Given the description of an element on the screen output the (x, y) to click on. 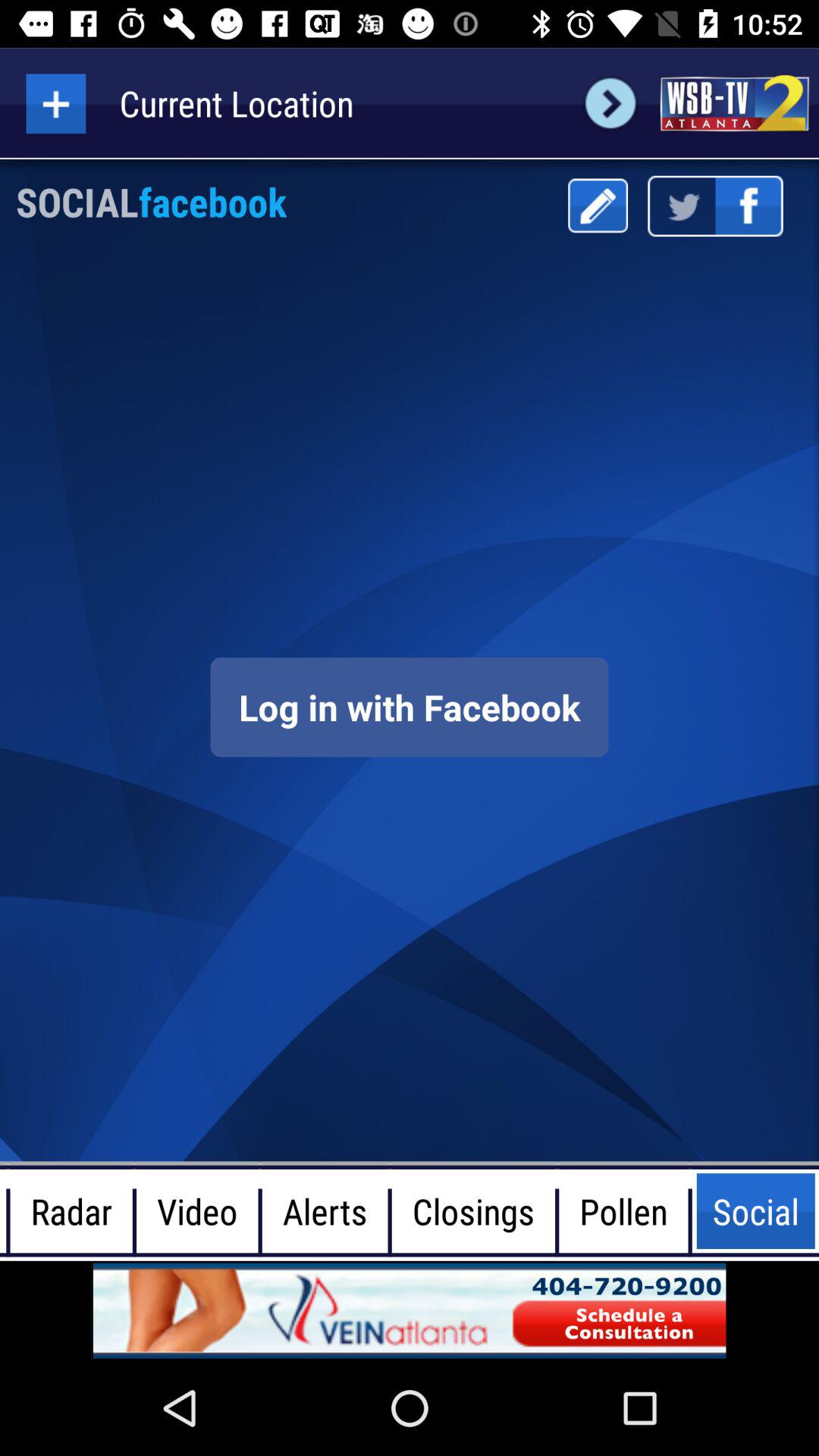
wsb-tv channel 2 weather (734, 103)
